Given the description of an element on the screen output the (x, y) to click on. 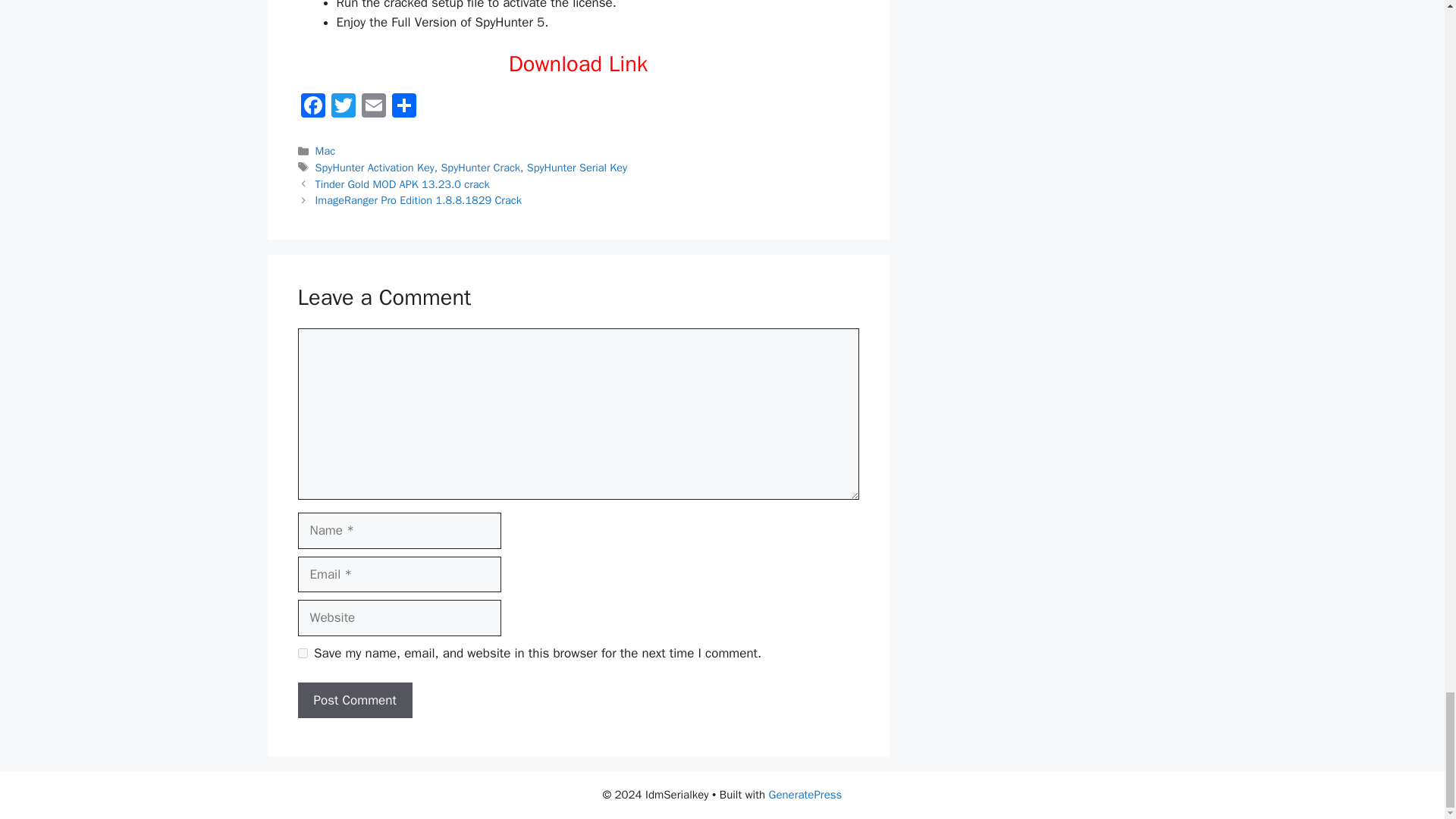
yes (302, 653)
Download Link (577, 63)
Email (373, 107)
Mac (325, 151)
Share (403, 107)
Twitter (342, 107)
Email (373, 107)
Facebook (312, 107)
Facebook (312, 107)
Previous (402, 183)
Twitter (342, 107)
Next (418, 200)
Post Comment (354, 700)
SpyHunter Activation Key (374, 167)
